Given the description of an element on the screen output the (x, y) to click on. 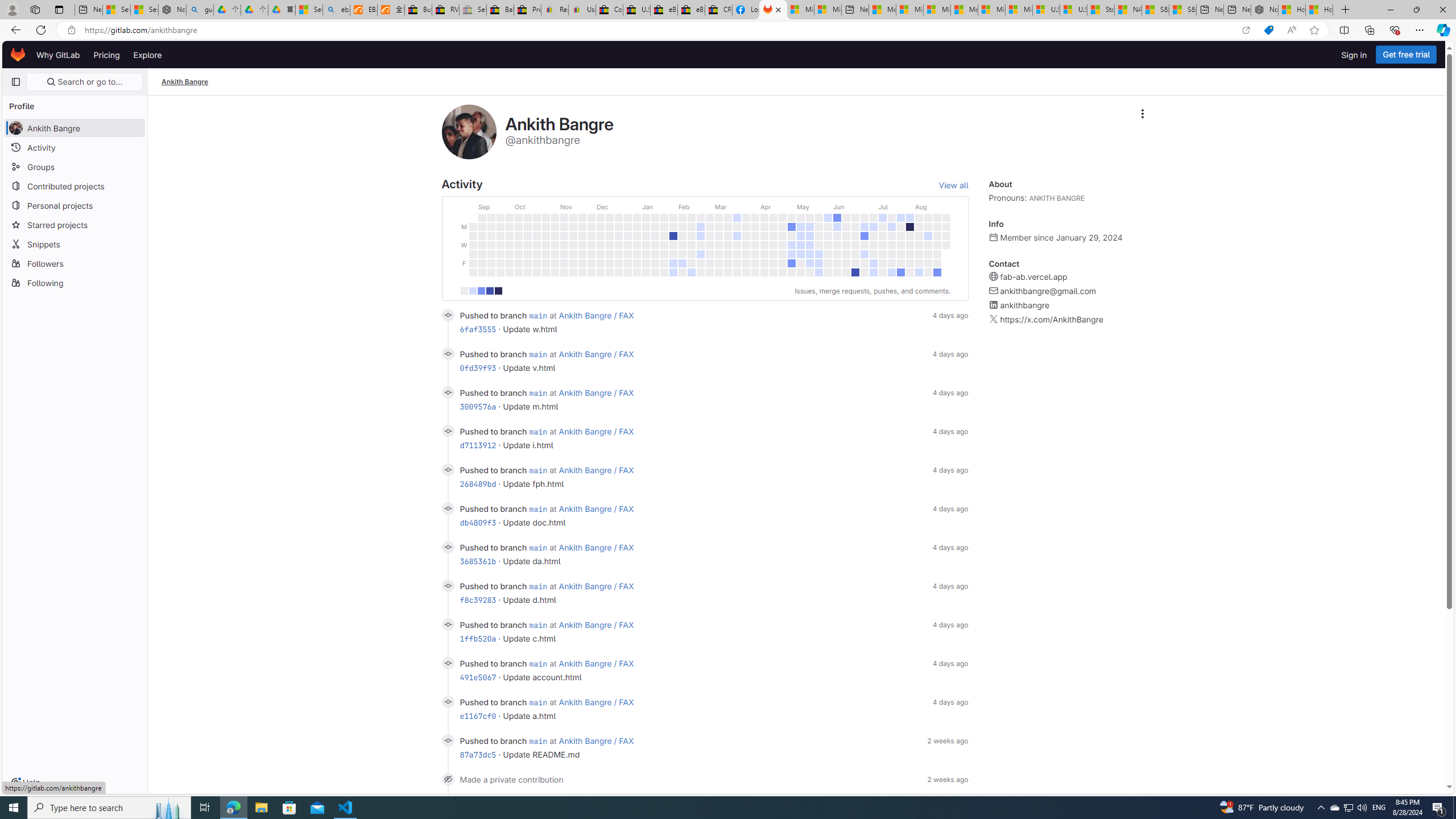
d7113912 (478, 445)
Log into Facebook (746, 9)
1ffb520a (478, 638)
Press Room - eBay Inc. (527, 9)
